Given the description of an element on the screen output the (x, y) to click on. 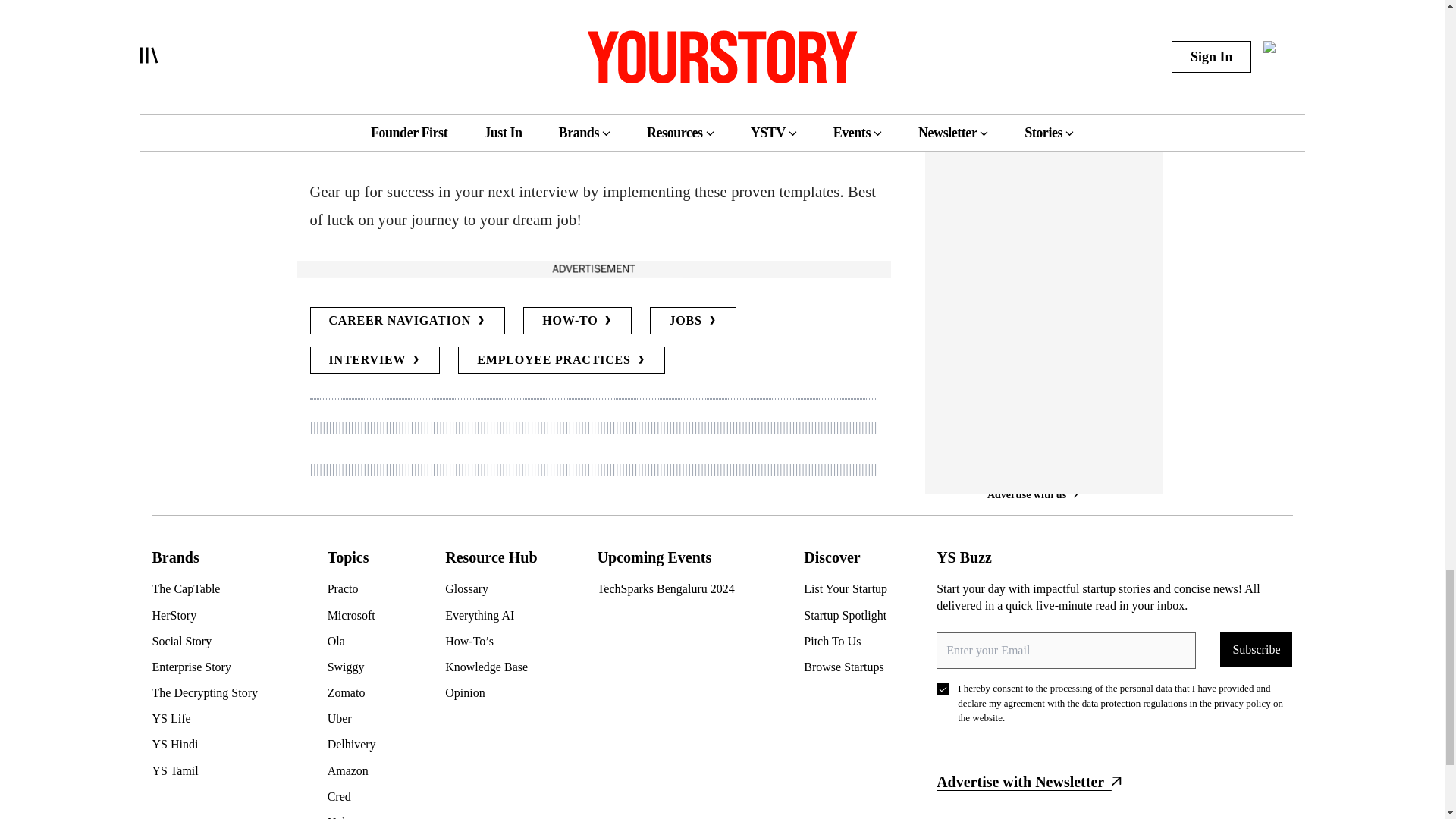
INTERVIEW (373, 359)
Advertise with us (592, 268)
HOW-TO (576, 320)
EMPLOYEE PRACTICES (560, 359)
succeed in this interview (413, 55)
CAREER NAVIGATION (406, 320)
JOBS (692, 320)
